Given the description of an element on the screen output the (x, y) to click on. 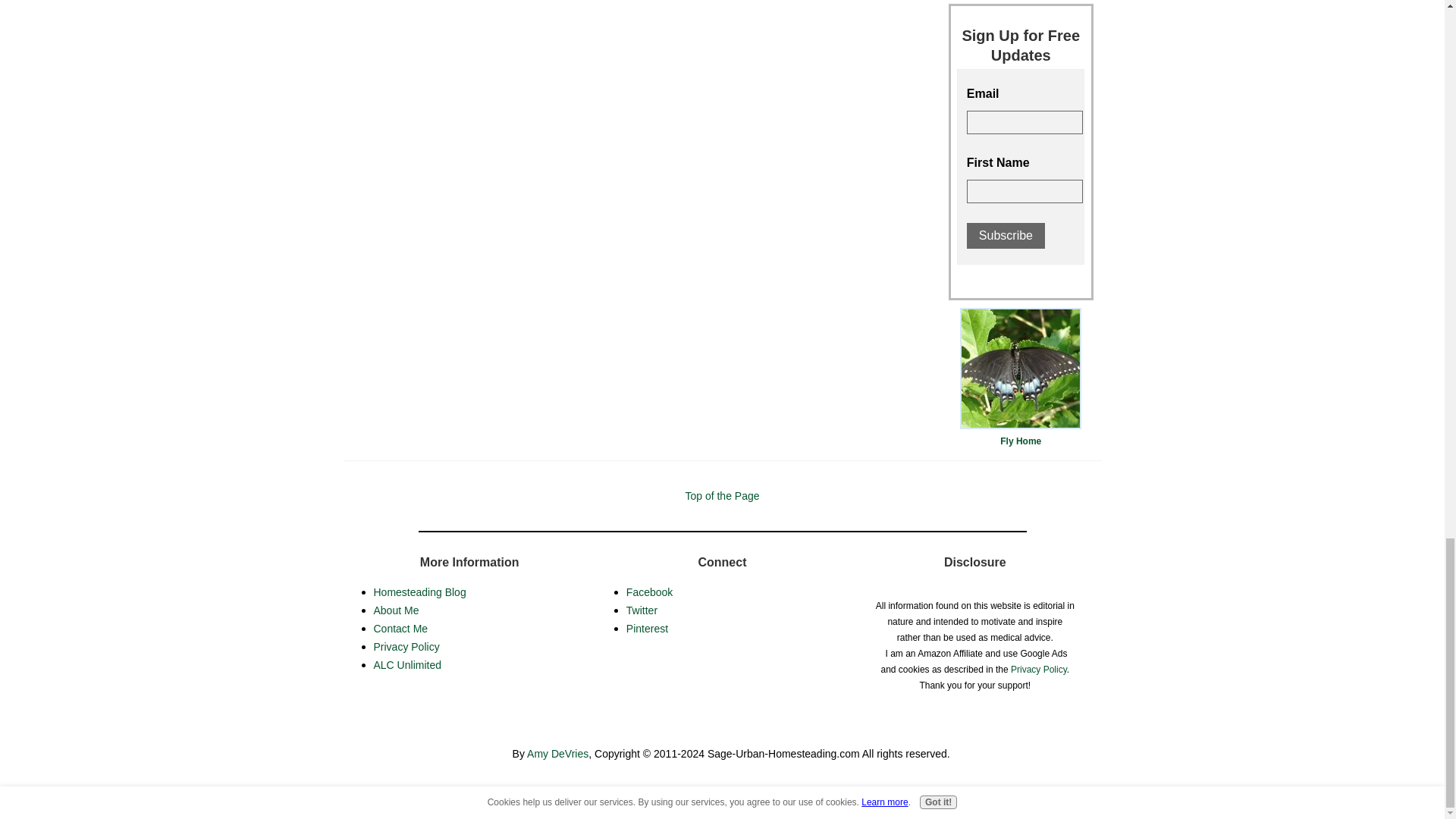
Fly back to the homepage (1020, 368)
I've used this company for over 10 years, highly recommend! (722, 797)
Go to Sage Urban Homesteading and Homeschooling (1021, 432)
